Given the description of an element on the screen output the (x, y) to click on. 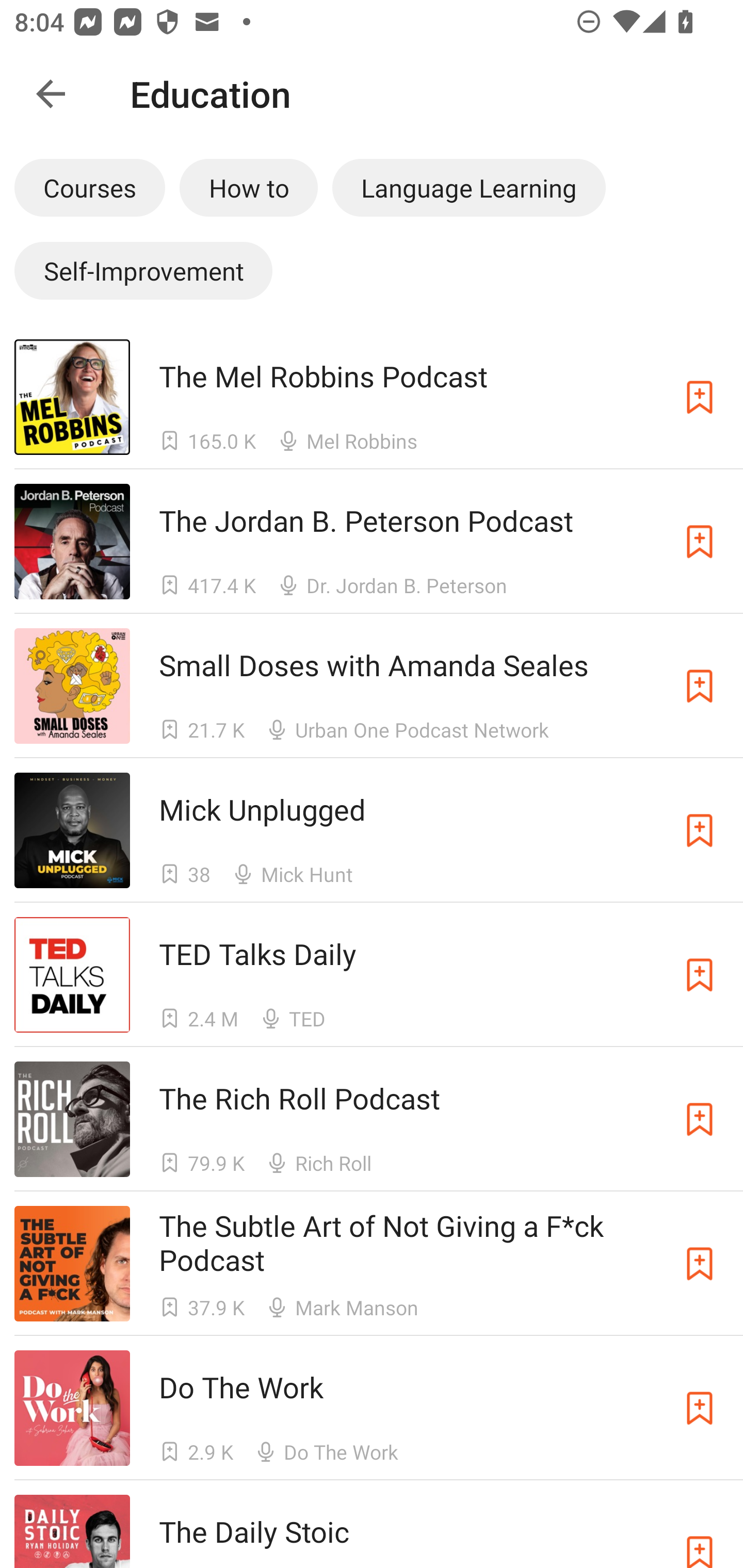
Navigate up (50, 93)
Courses (89, 187)
How to (248, 187)
Language Learning (468, 187)
Self-Improvement (143, 270)
Subscribe (699, 396)
Subscribe (699, 541)
Subscribe (699, 685)
Subscribe (699, 830)
Subscribe (699, 975)
Subscribe (699, 1119)
Subscribe (699, 1263)
Subscribe (699, 1408)
The Daily Stoic The Daily Stoic Subscribe (371, 1524)
Subscribe (699, 1531)
